Given the description of an element on the screen output the (x, y) to click on. 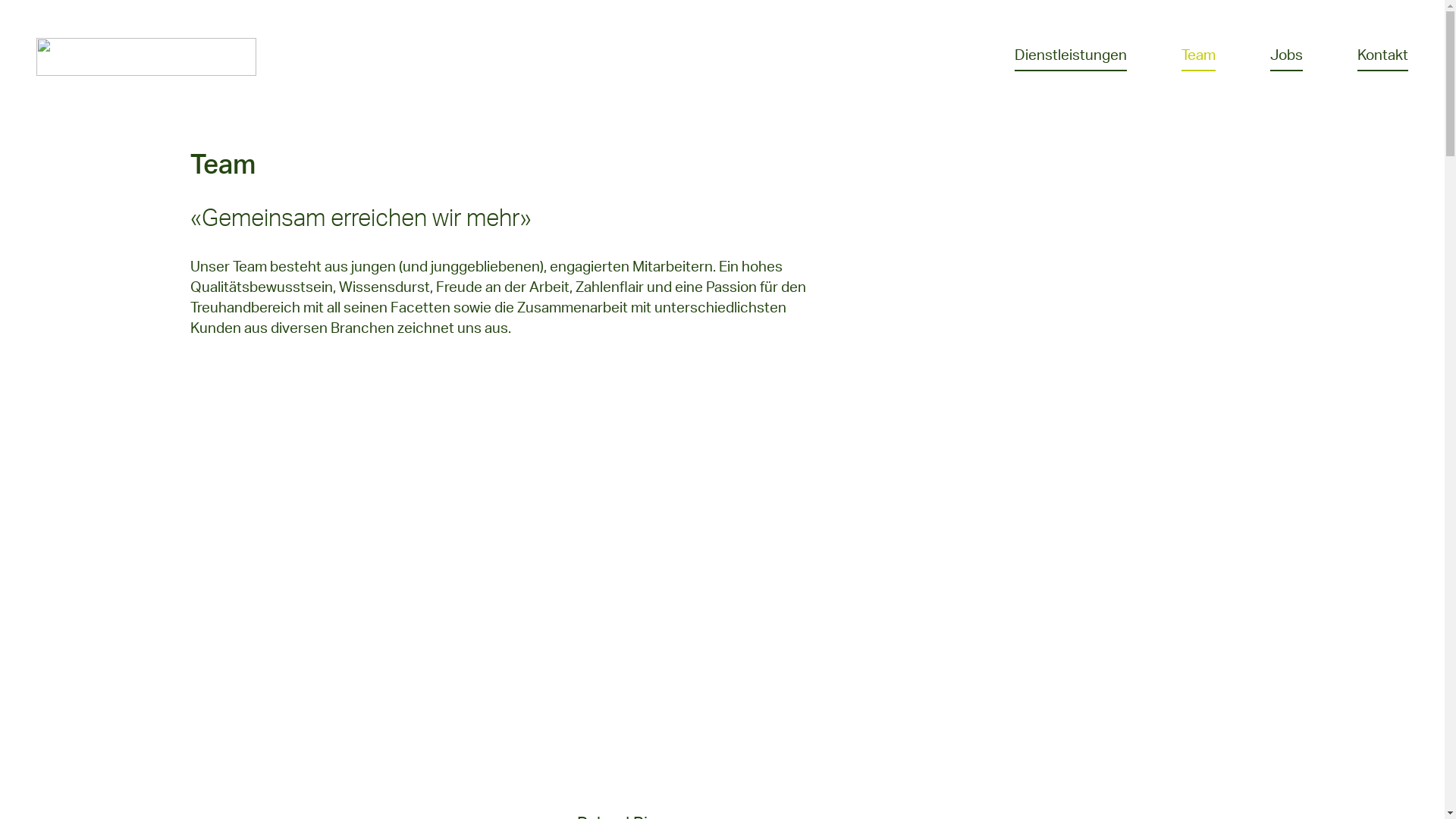
Kontakt Element type: text (1382, 56)
Team Element type: text (1198, 56)
Dienstleistungen Element type: text (1070, 56)
Jobs Element type: text (1286, 56)
